Given the description of an element on the screen output the (x, y) to click on. 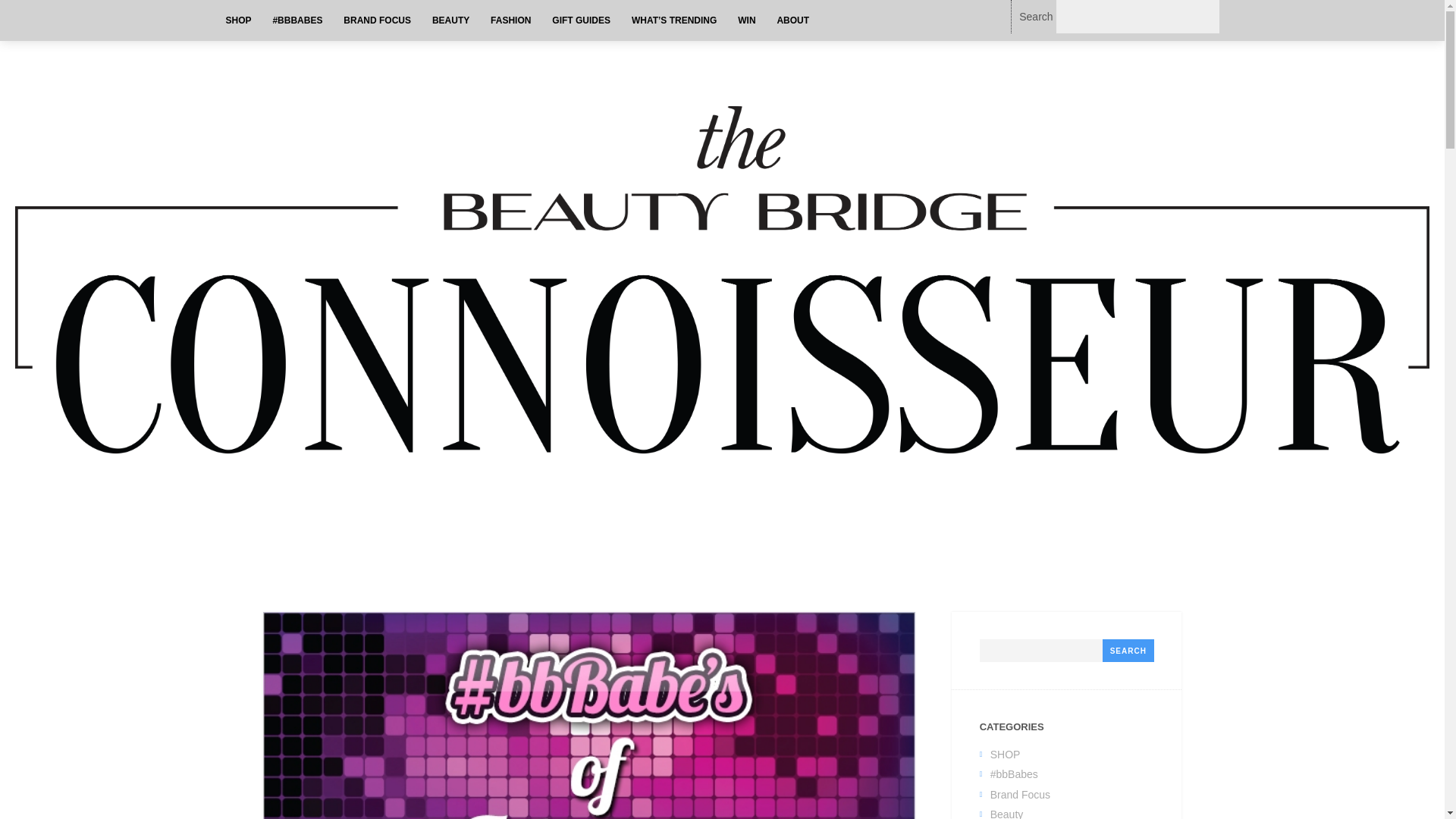
GIFT GUIDES (581, 20)
Search (1128, 650)
ABOUT (792, 20)
FASHION (510, 20)
SKIP TO CONTENT (275, 20)
BRAND FOCUS (377, 20)
BEAUTY (451, 20)
